Given the description of an element on the screen output the (x, y) to click on. 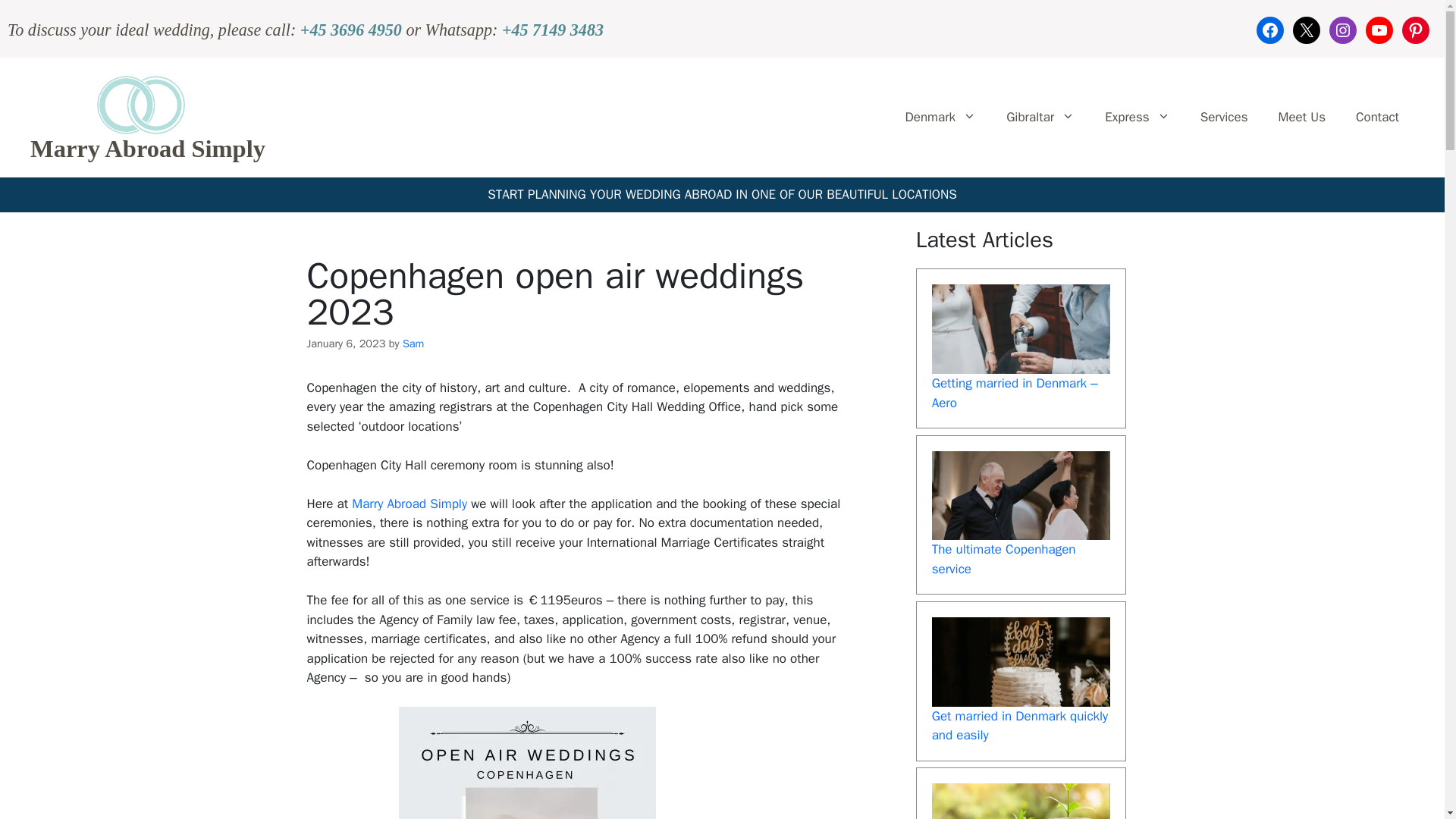
Marry Abroad Simply (409, 503)
Meet Us (1301, 117)
Gibraltar (1040, 117)
Pinterest (1415, 30)
Facebook (1270, 30)
Marry Abroad Simply (147, 148)
Services (1224, 117)
YouTube (1379, 30)
Instagram (1342, 30)
